Given the description of an element on the screen output the (x, y) to click on. 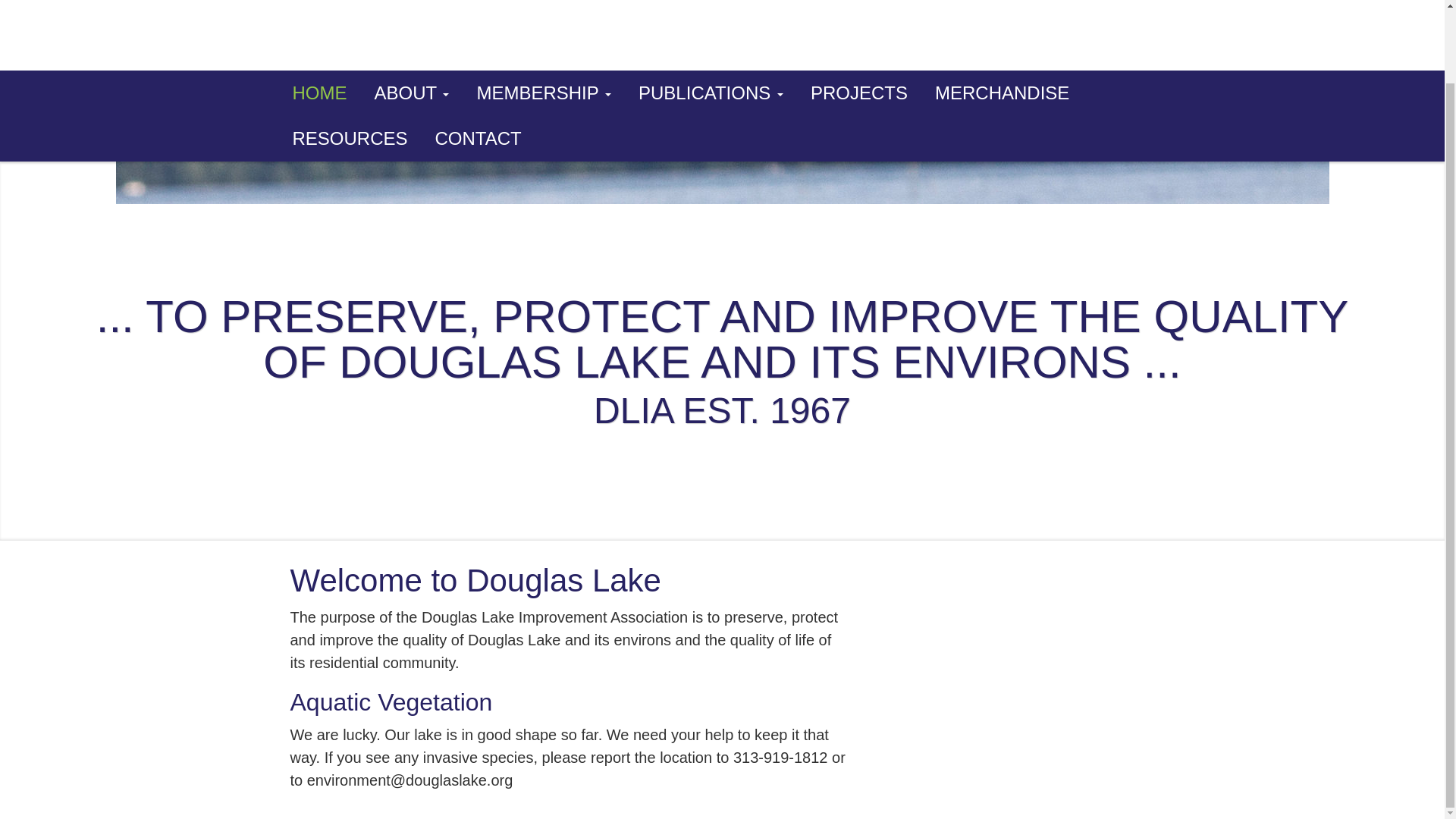
ABOUT (412, 93)
MEMBERSHIP (543, 93)
PUBLICATIONS (710, 93)
CONTACT (478, 138)
HOME (320, 93)
RESOURCES (350, 138)
MERCHANDISE (1002, 93)
PROJECTS (858, 93)
